Given the description of an element on the screen output the (x, y) to click on. 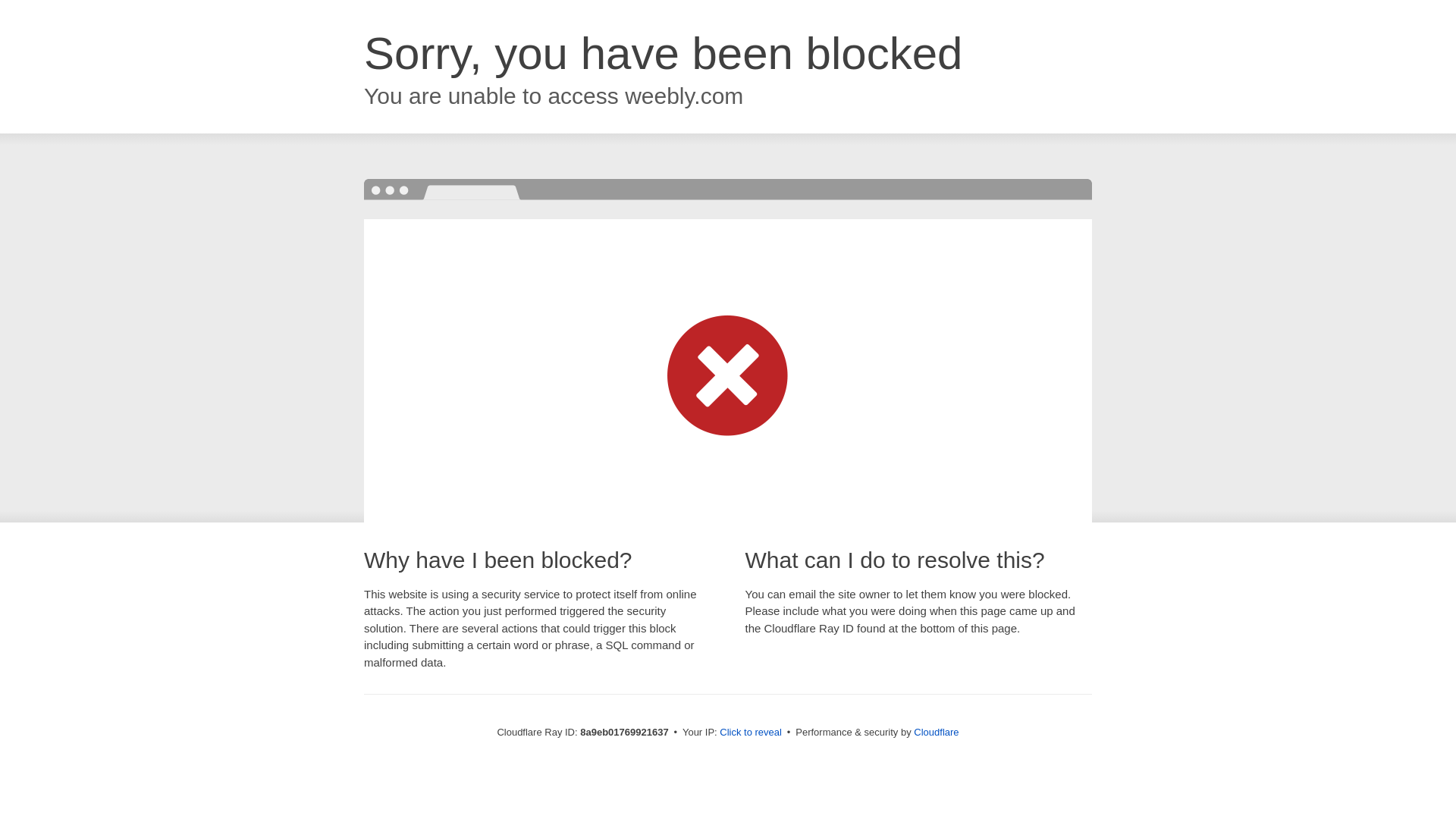
Click to reveal (750, 732)
Cloudflare (936, 731)
